Given the description of an element on the screen output the (x, y) to click on. 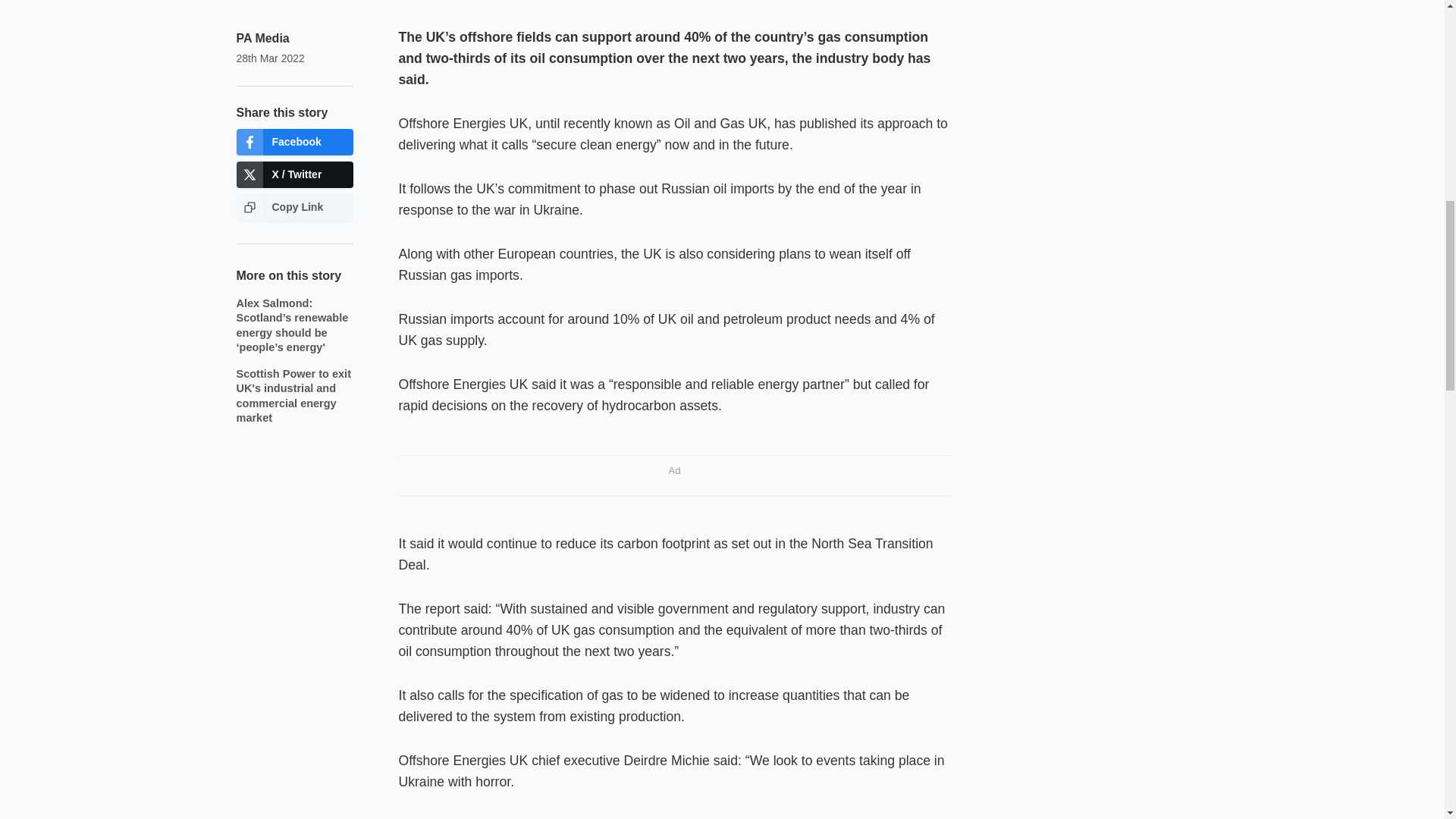
Facebook (294, 141)
